Given the description of an element on the screen output the (x, y) to click on. 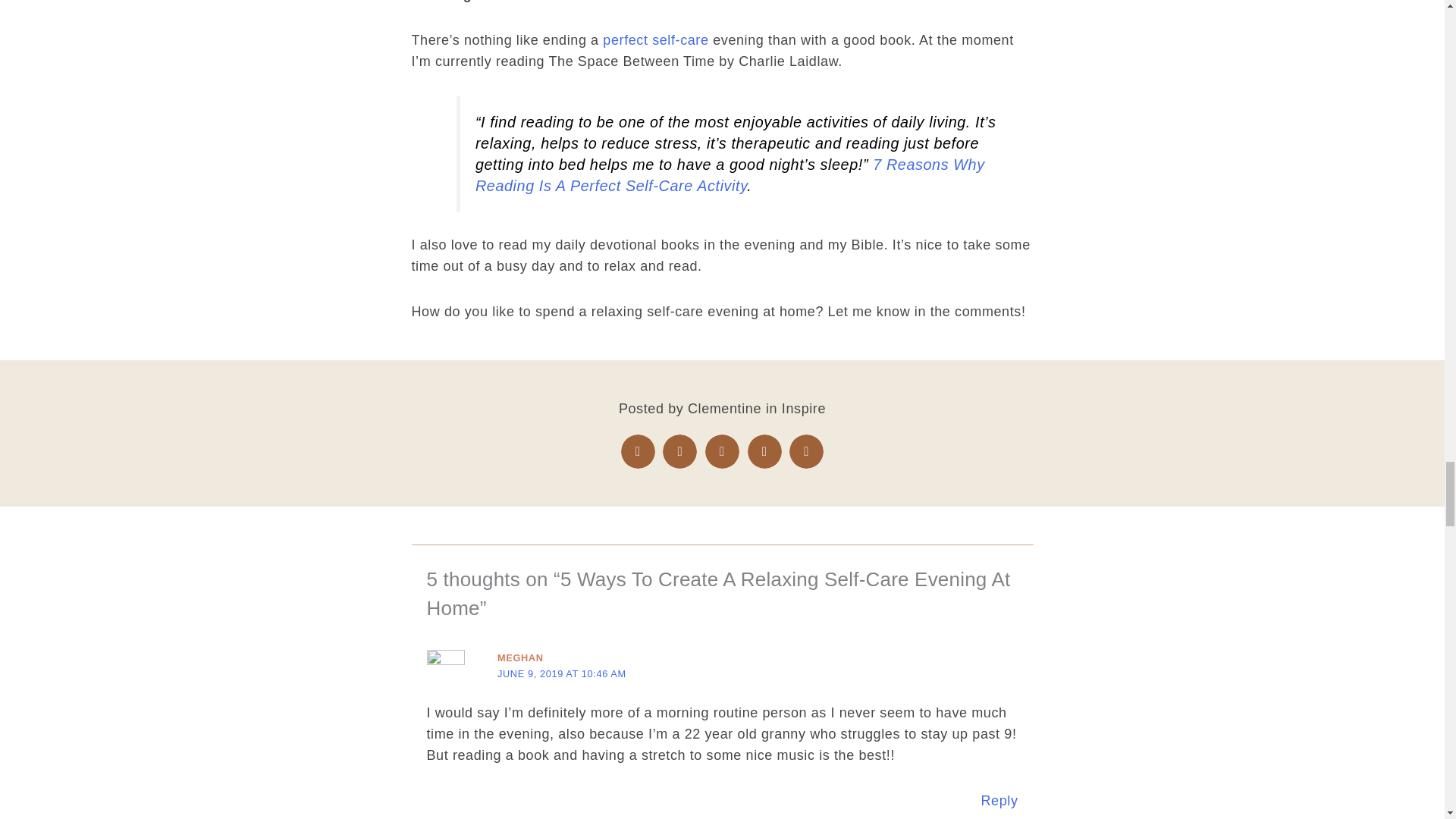
Reply (998, 800)
perfect self-care (654, 39)
JUNE 9, 2019 AT 10:46 AM (561, 673)
7 Reasons Why Reading Is A Perfect Self-Care Activity (730, 175)
